Given the description of an element on the screen output the (x, y) to click on. 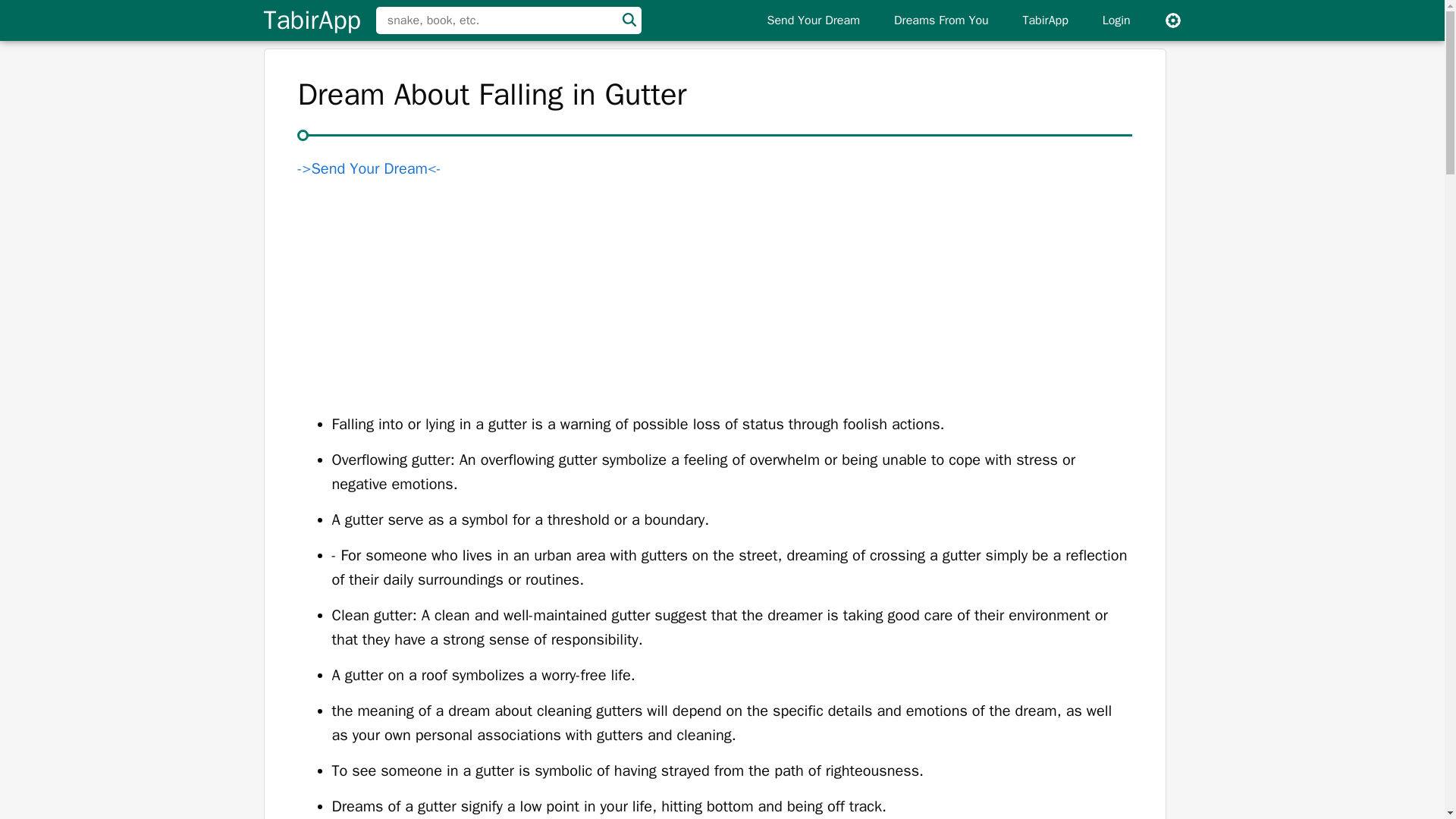
Dreams From You (941, 20)
Settings (310, 20)
Advertisement (1173, 20)
go to co ntent (1045, 20)
Send Your Dream (1116, 20)
